Given the description of an element on the screen output the (x, y) to click on. 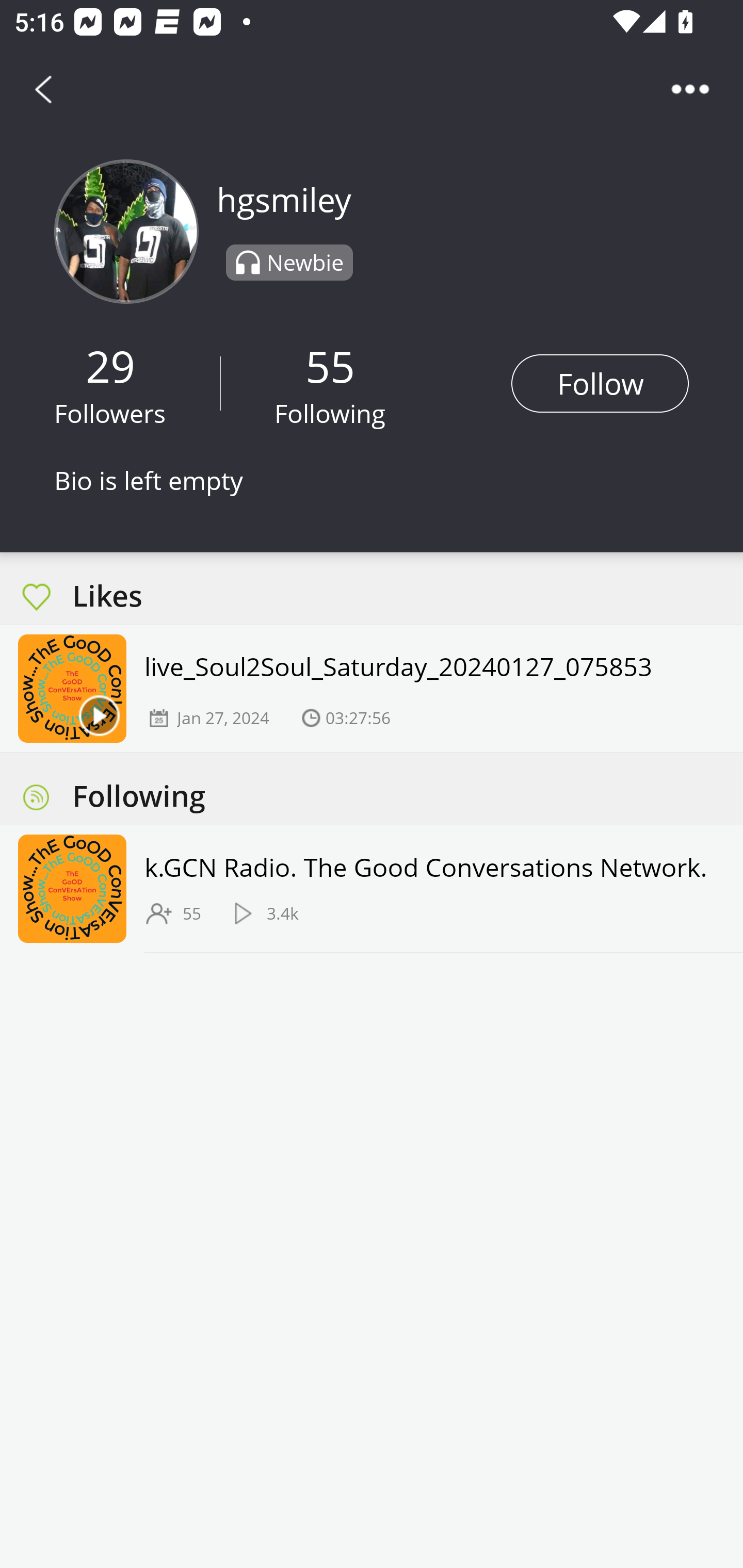
29 (110, 365)
55 (330, 365)
Follow (599, 383)
Followers (110, 413)
Following (329, 413)
